Given the description of an element on the screen output the (x, y) to click on. 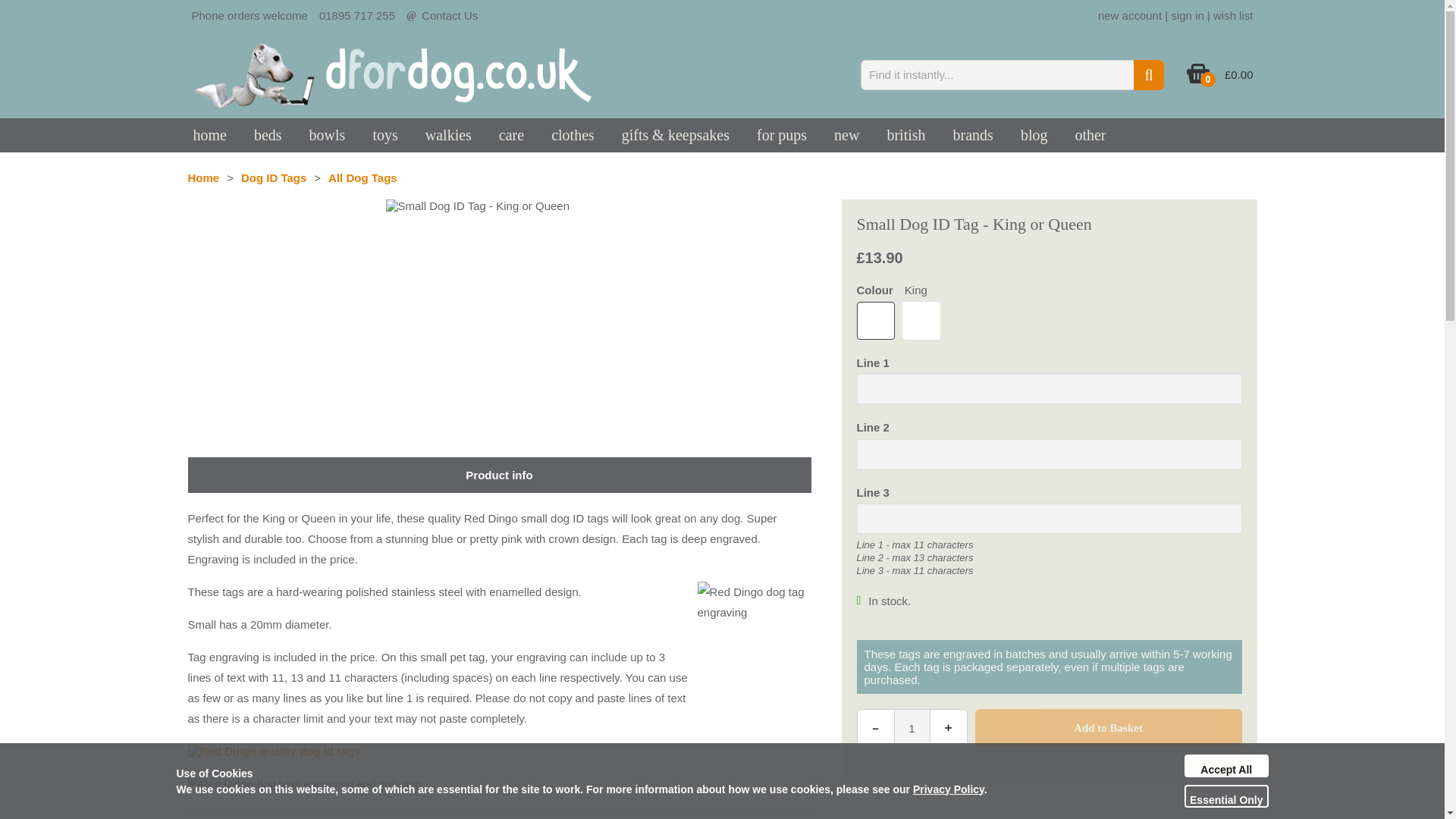
0 (1197, 80)
Search (1148, 73)
home (209, 134)
Contact Us (449, 15)
beds (267, 134)
toys (384, 134)
wish list (1232, 15)
sign in (1187, 15)
1 (911, 728)
new account (1129, 15)
